Given the description of an element on the screen output the (x, y) to click on. 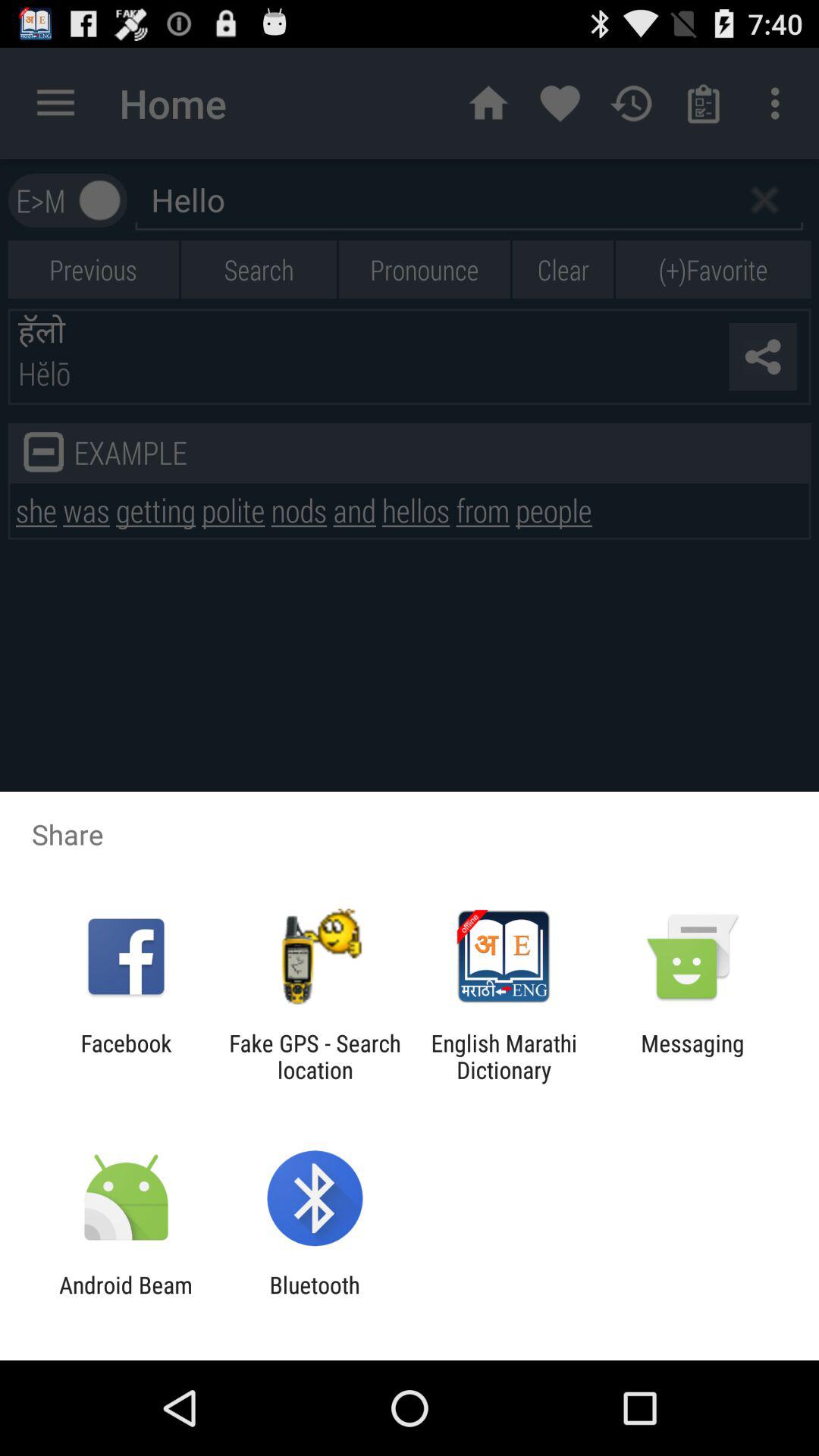
select the item at the bottom right corner (692, 1056)
